Given the description of an element on the screen output the (x, y) to click on. 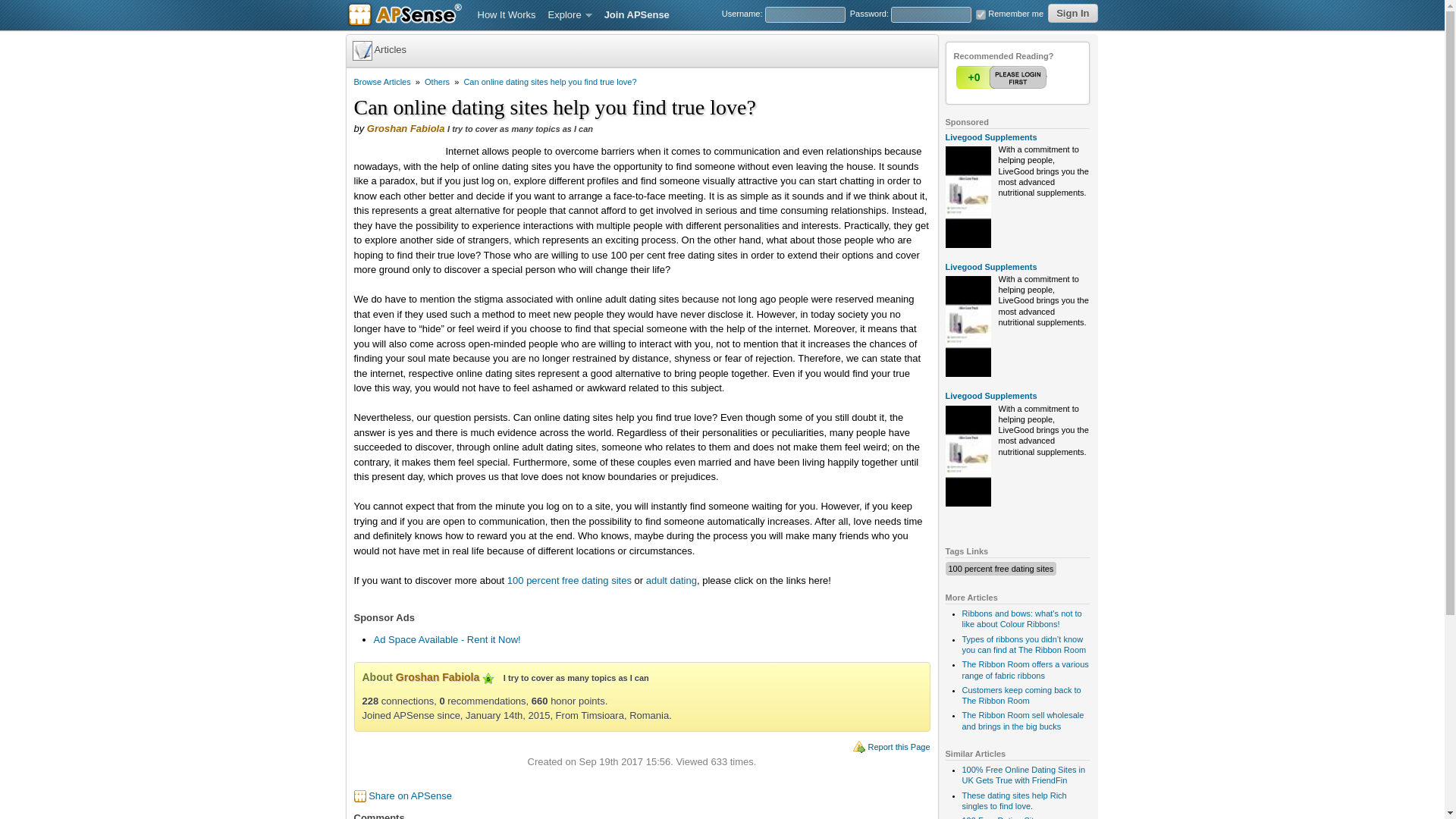
Livegood Supplements (990, 395)
-1 (1031, 77)
Vote Down (1031, 77)
Others (437, 81)
1 (1002, 77)
The Ribbon Room sell wholesale and brings in the big bucks (1021, 720)
1 (980, 14)
Explore (569, 15)
Livegood Supplements (990, 136)
